Given the description of an element on the screen output the (x, y) to click on. 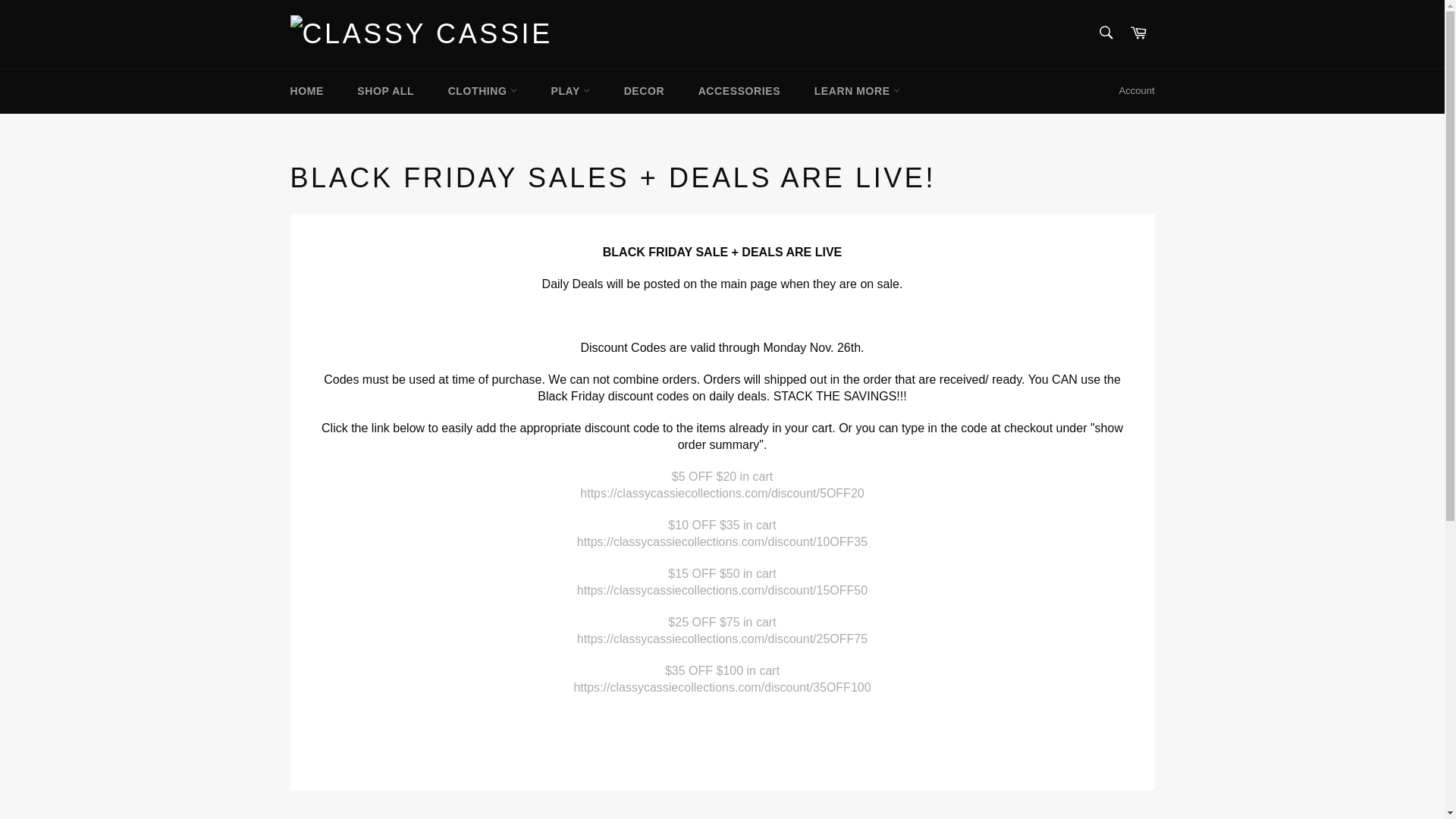
Cart (1138, 33)
HOME (306, 90)
CLOTHING (482, 90)
Search (1104, 32)
SHOP ALL (385, 90)
